Given the description of an element on the screen output the (x, y) to click on. 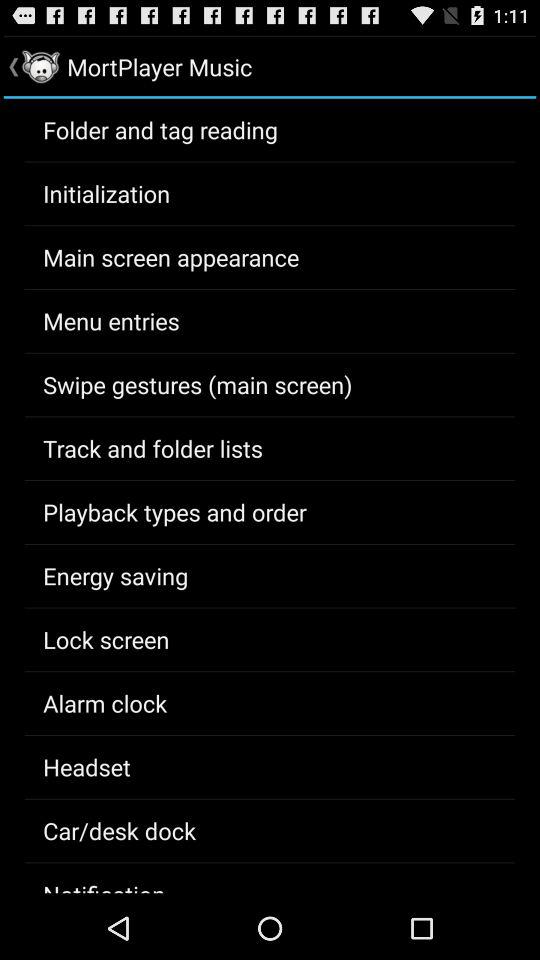
swipe until the lock screen icon (106, 639)
